Given the description of an element on the screen output the (x, y) to click on. 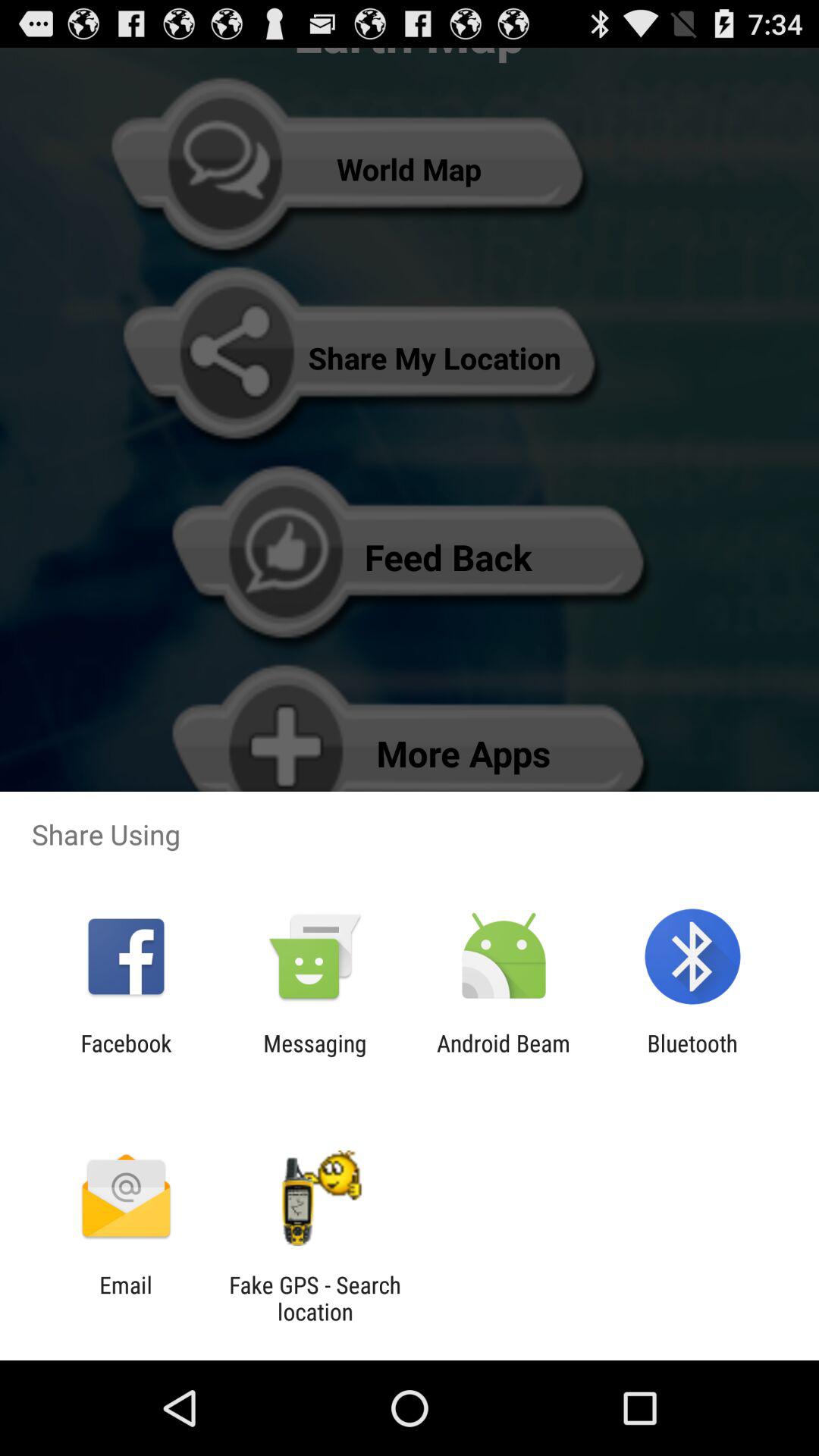
open app to the left of android beam (314, 1056)
